Given the description of an element on the screen output the (x, y) to click on. 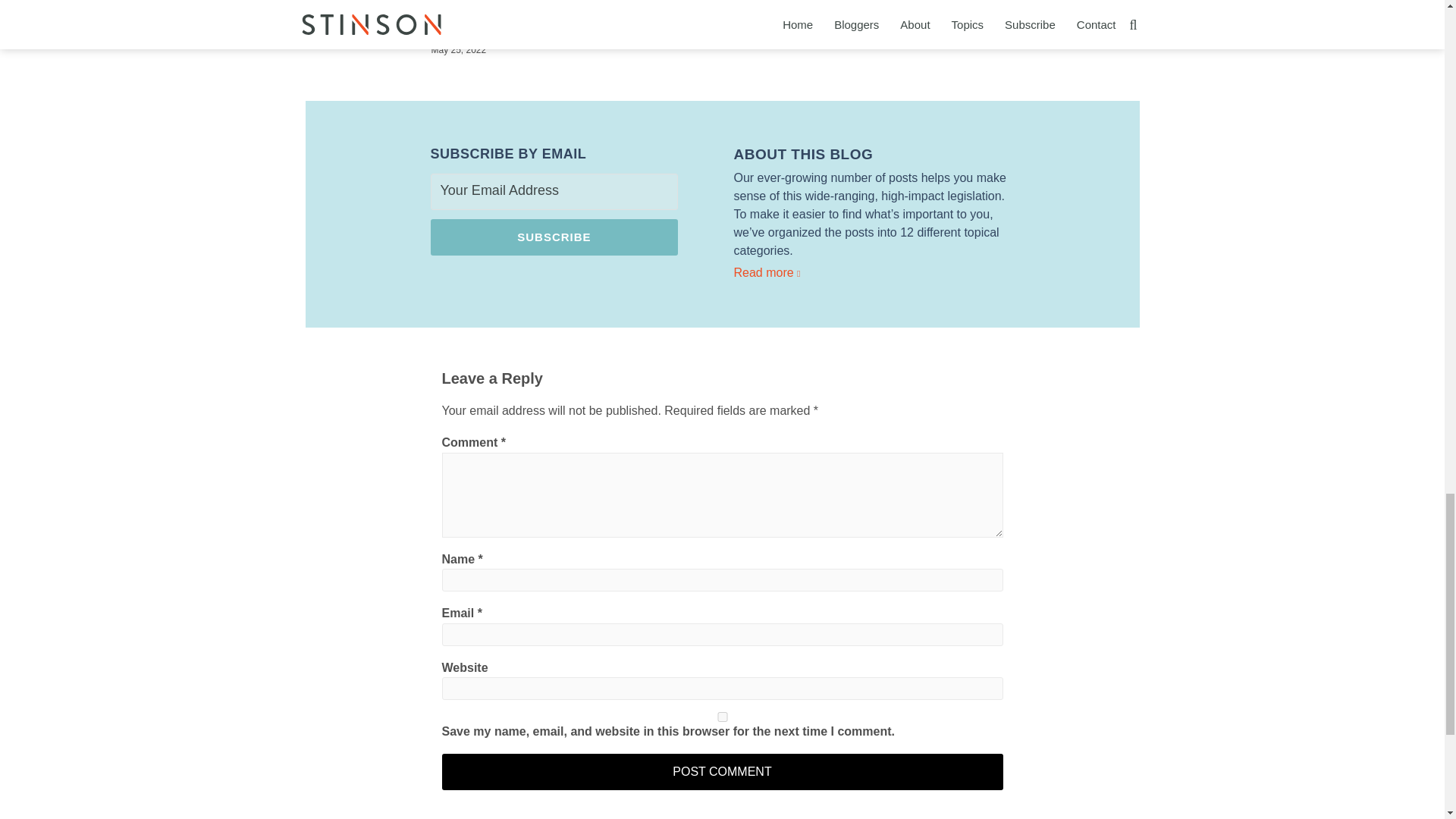
Subscribe (554, 237)
Post Comment (722, 771)
SEC Approves Nasdaq Board Diversity Rules (923, 11)
ISS Publishes Proposed Changes for 2022 for Comment (720, 11)
yes (722, 716)
Subscribe (554, 237)
Post Comment (722, 771)
Read more (873, 272)
